Given the description of an element on the screen output the (x, y) to click on. 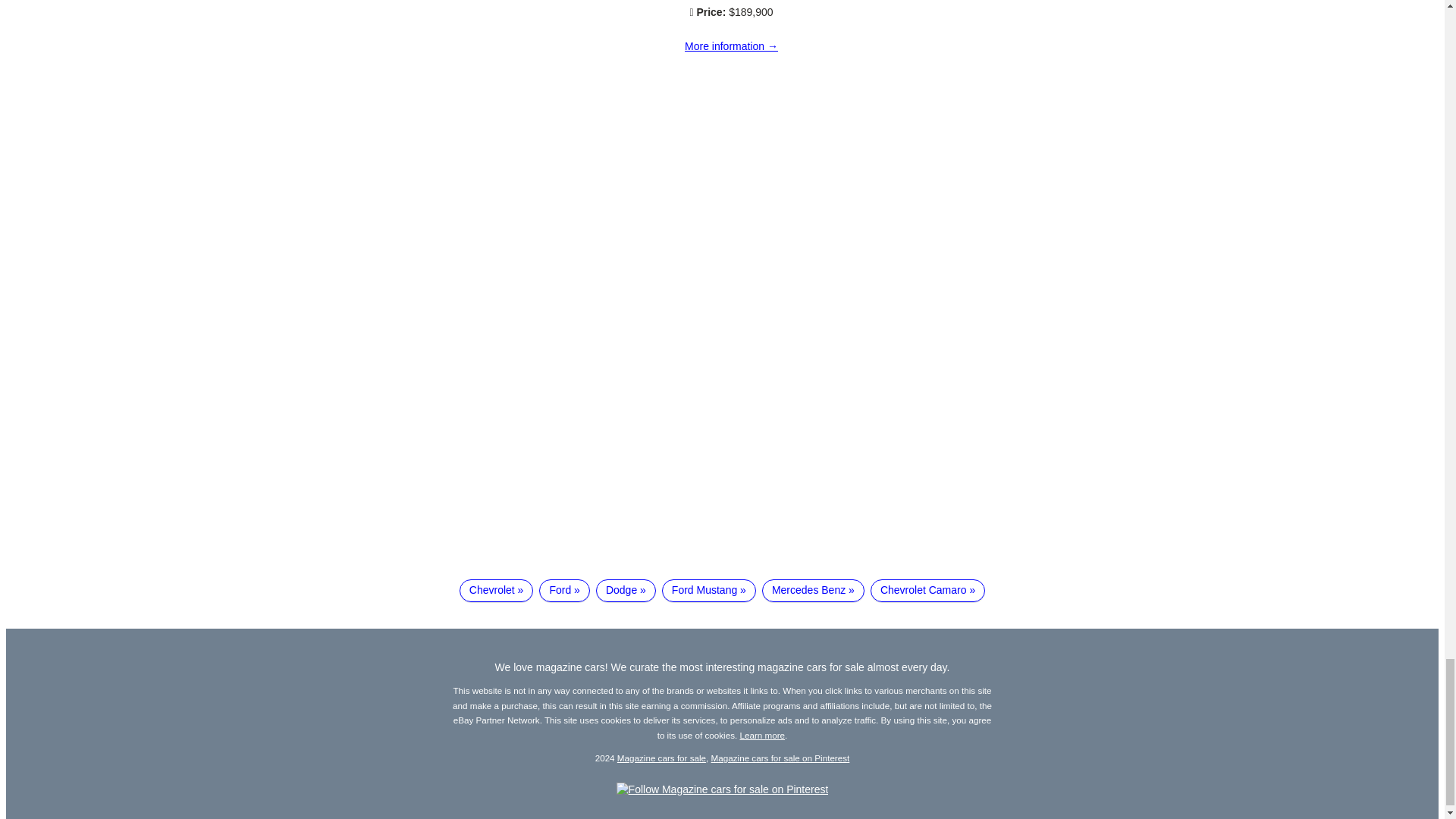
Ford Mustang (708, 590)
Magazine cars for sale on Pinterest (780, 757)
Ford (563, 590)
Mercedes Benz (812, 590)
Chevrolet (497, 590)
Follow Magazine cars for sale on Pinterest (721, 788)
Magazine cars for sale (661, 757)
Learn more (762, 735)
Dodge (625, 590)
Chevrolet Camaro (927, 590)
